Given the description of an element on the screen output the (x, y) to click on. 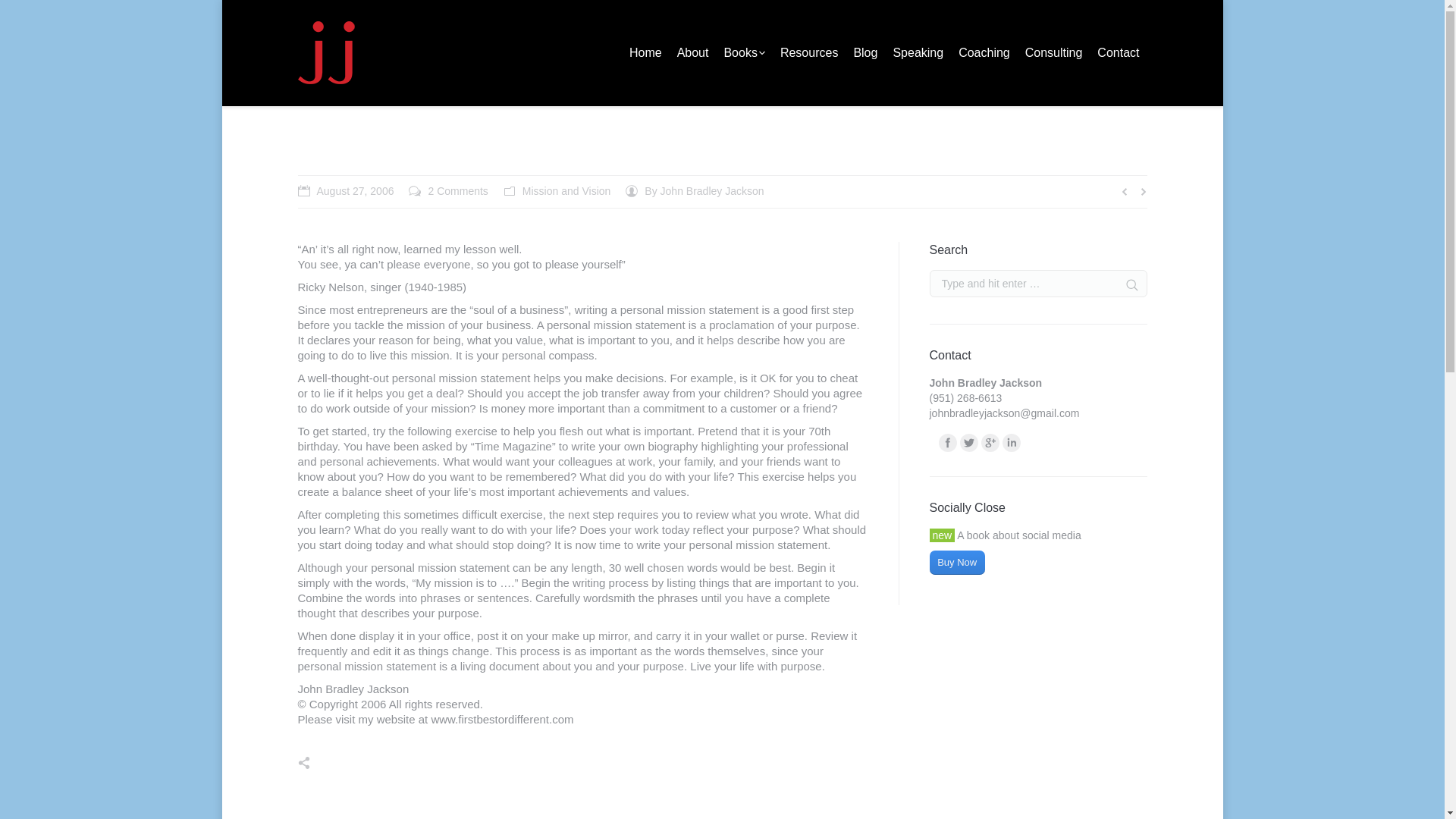
Mission and Vision (742, 159)
August 27, 2006 (345, 191)
Mission and Vision (566, 191)
View all posts by John Bradley Jackson (694, 191)
By John Bradley Jackson (694, 191)
Consulting (1053, 52)
Go! (1126, 285)
Home (645, 52)
Books (743, 52)
2 Comments (448, 191)
Resources (809, 52)
Facebook (947, 443)
Contact (1118, 52)
Twitter (968, 443)
Home (676, 159)
